Given the description of an element on the screen output the (x, y) to click on. 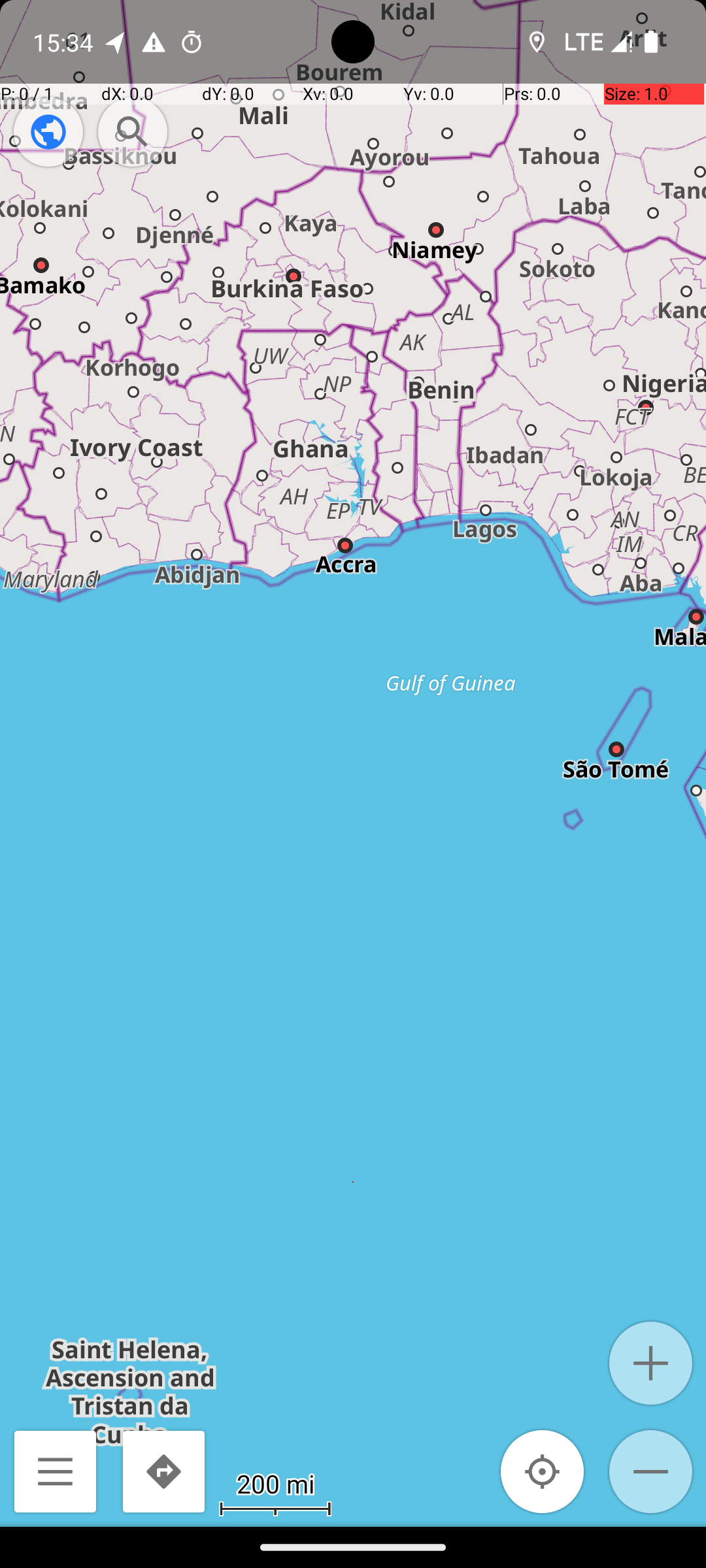
200 mi Element type: android.widget.TextView (274, 1483)
Position not yet known. Element type: android.widget.ImageButton (542, 1471)
OpenTracks notification: Distance: 8.20 mi Element type: android.widget.ImageView (115, 41)
